Given the description of an element on the screen output the (x, y) to click on. 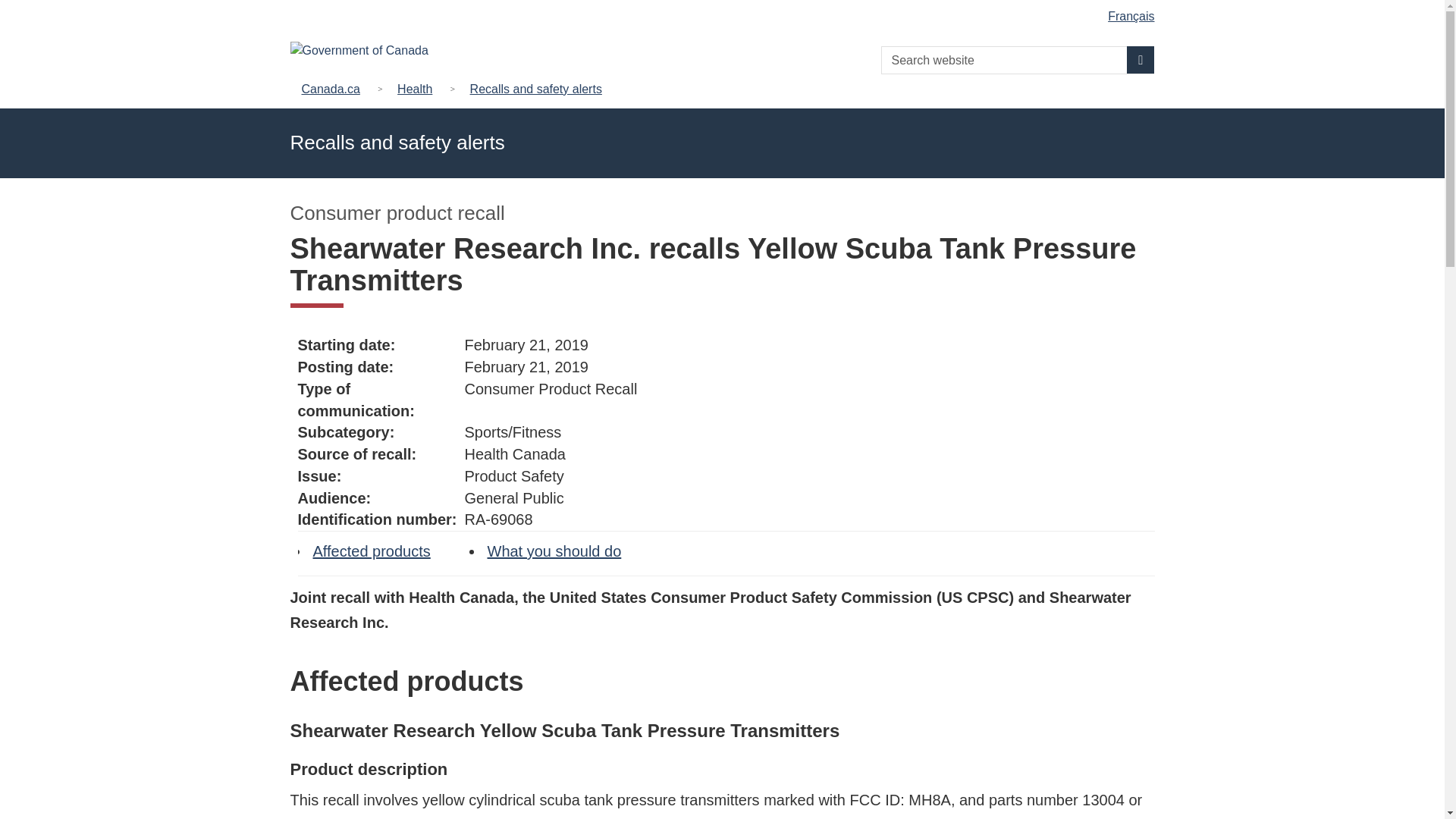
Skip to main content (725, 11)
What you should do (553, 550)
Affected products (371, 550)
Canada.ca (334, 88)
Recalls and safety alerts (536, 88)
Search (1140, 58)
Health (414, 88)
Search (1140, 58)
